Given the description of an element on the screen output the (x, y) to click on. 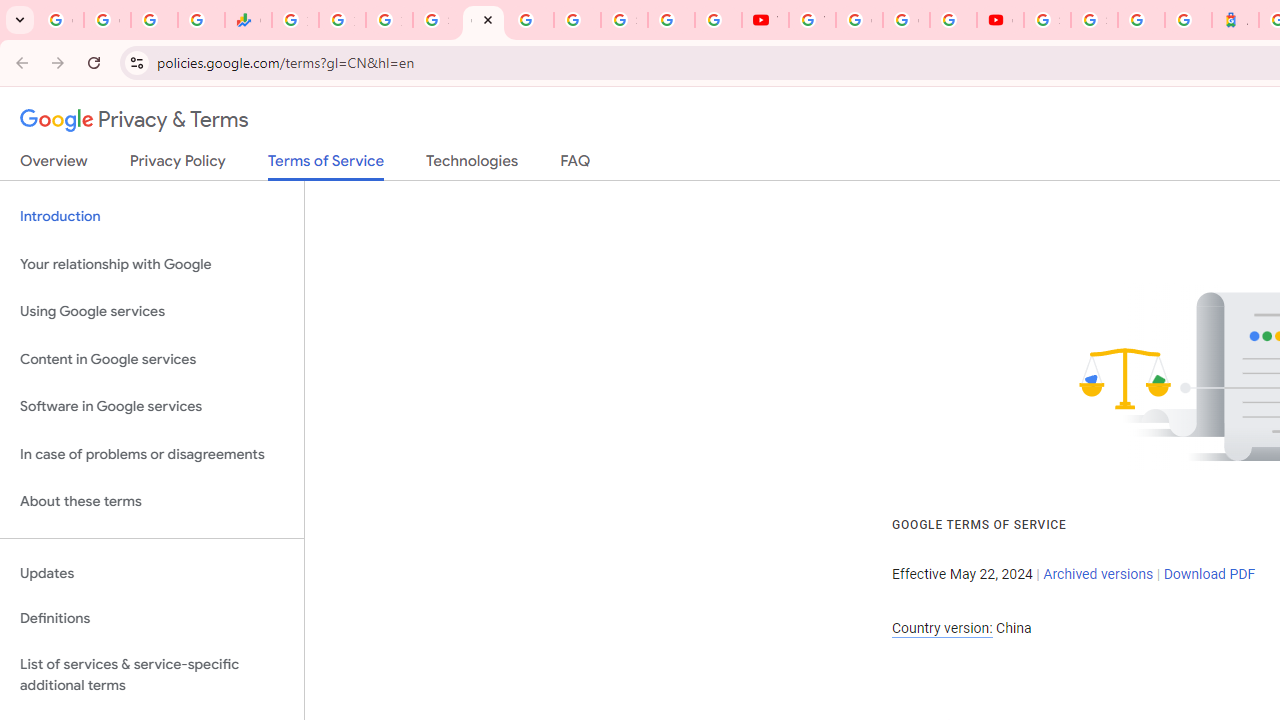
Google Workspace Admin Community (60, 20)
Definitions (152, 619)
Sign in - Google Accounts (1094, 20)
Archived versions (1098, 574)
Privacy Checkup (718, 20)
List of services & service-specific additional terms (152, 674)
